Given the description of an element on the screen output the (x, y) to click on. 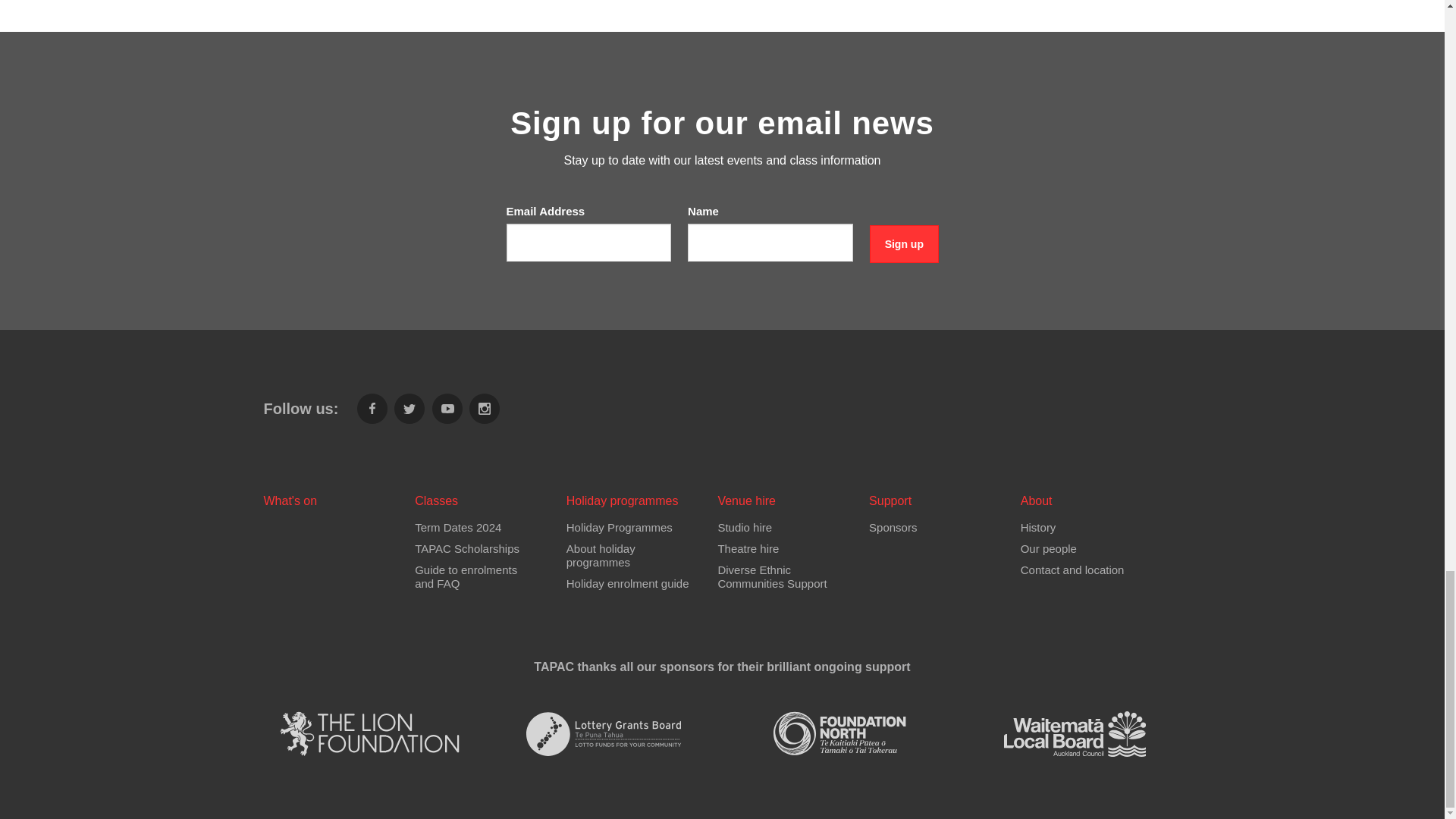
Sign up (904, 244)
Check us out on Instagram (483, 408)
Learn with us on YouTube (447, 408)
Follow us on Twitter (409, 408)
Join us on Facebook (371, 408)
